Given the description of an element on the screen output the (x, y) to click on. 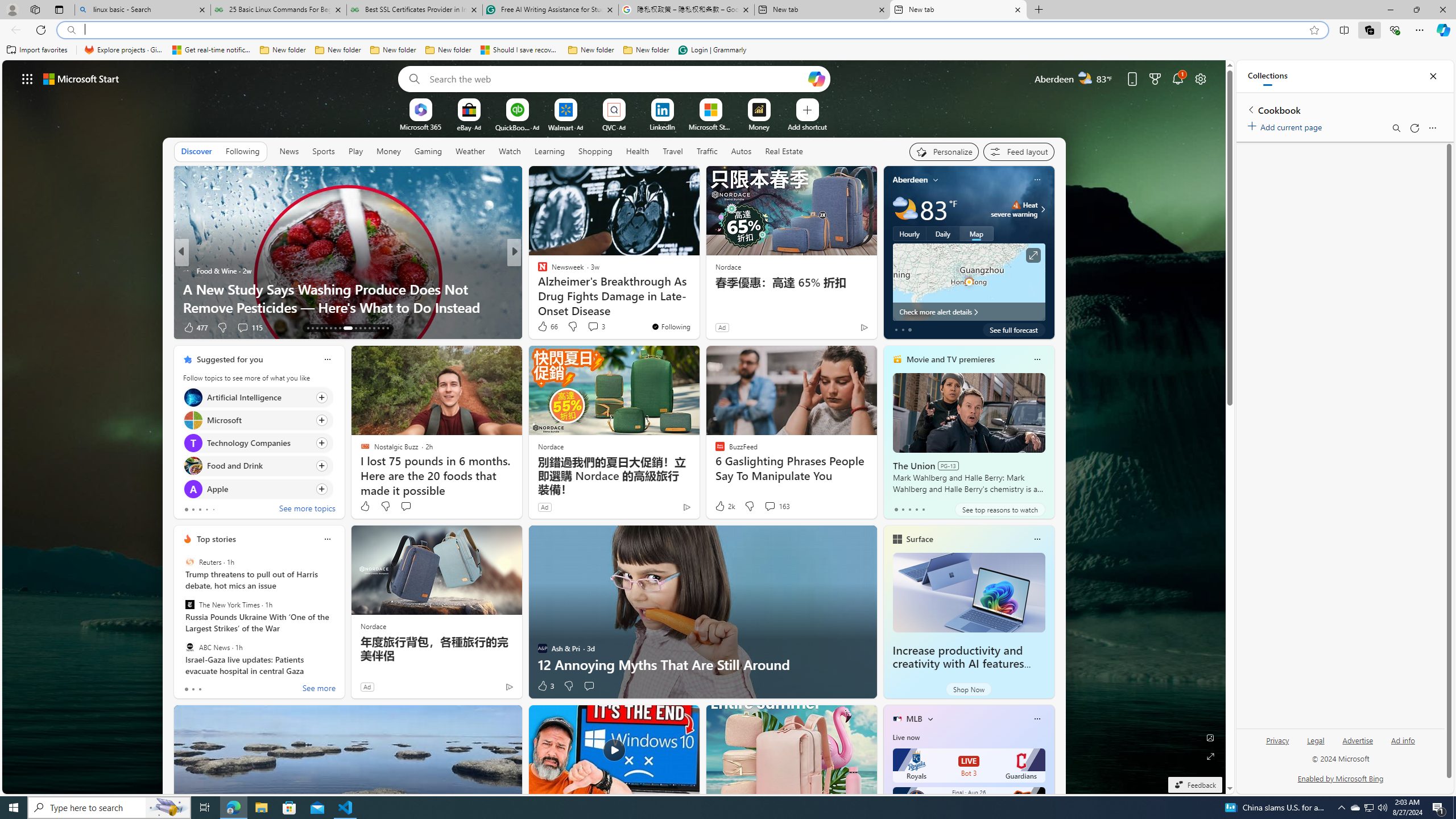
Microsoft rewards (1155, 78)
Body Network (537, 270)
Royals LIVE Bot 3 Guardians (968, 765)
tab-0 (185, 689)
Class: icon-img (1037, 718)
Best SSL Certificates Provider in India - GeeksforGeeks (414, 9)
